Given the description of an element on the screen output the (x, y) to click on. 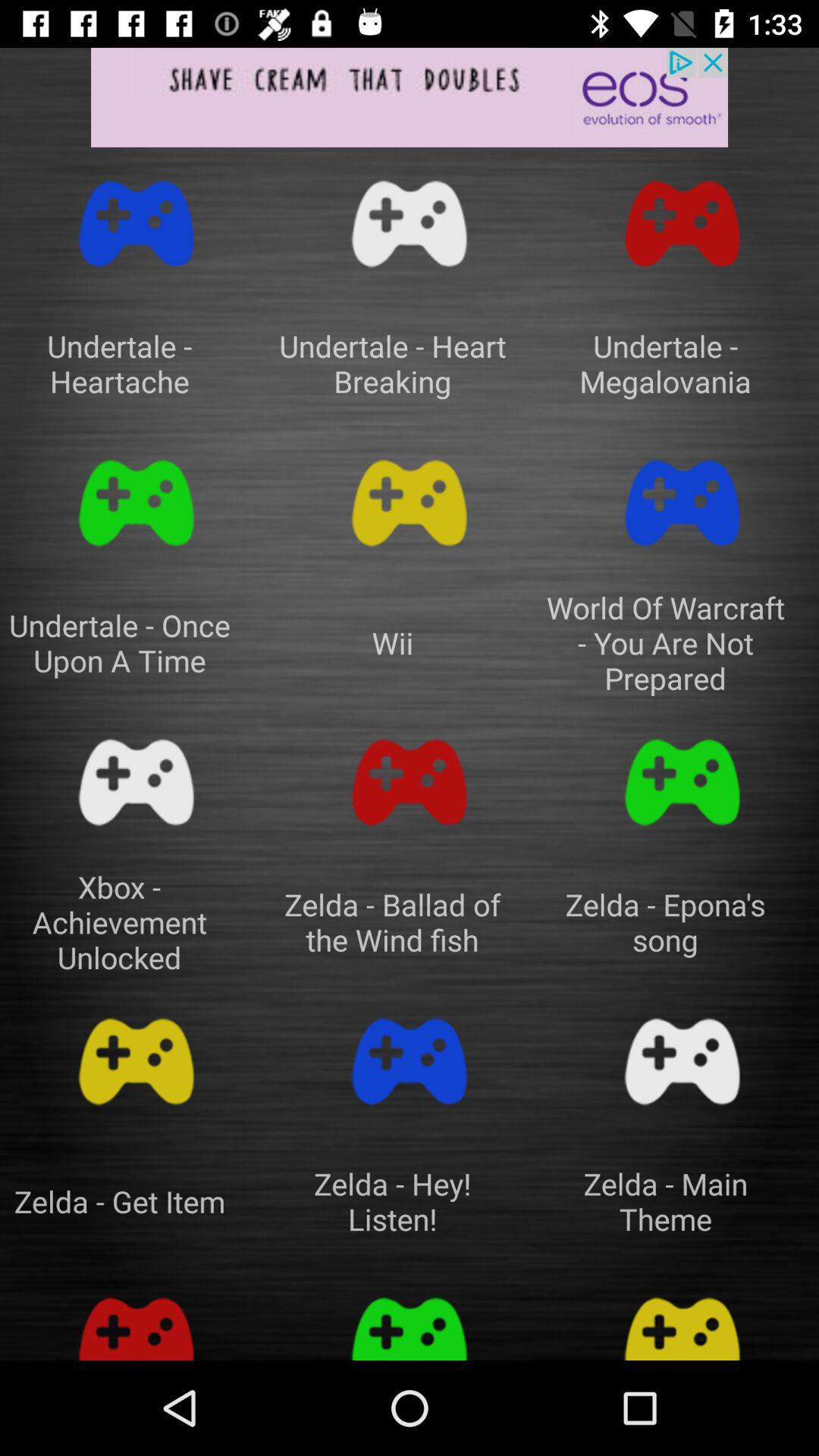
switch to play zelda- ballad of the wind fish (409, 782)
